Given the description of an element on the screen output the (x, y) to click on. 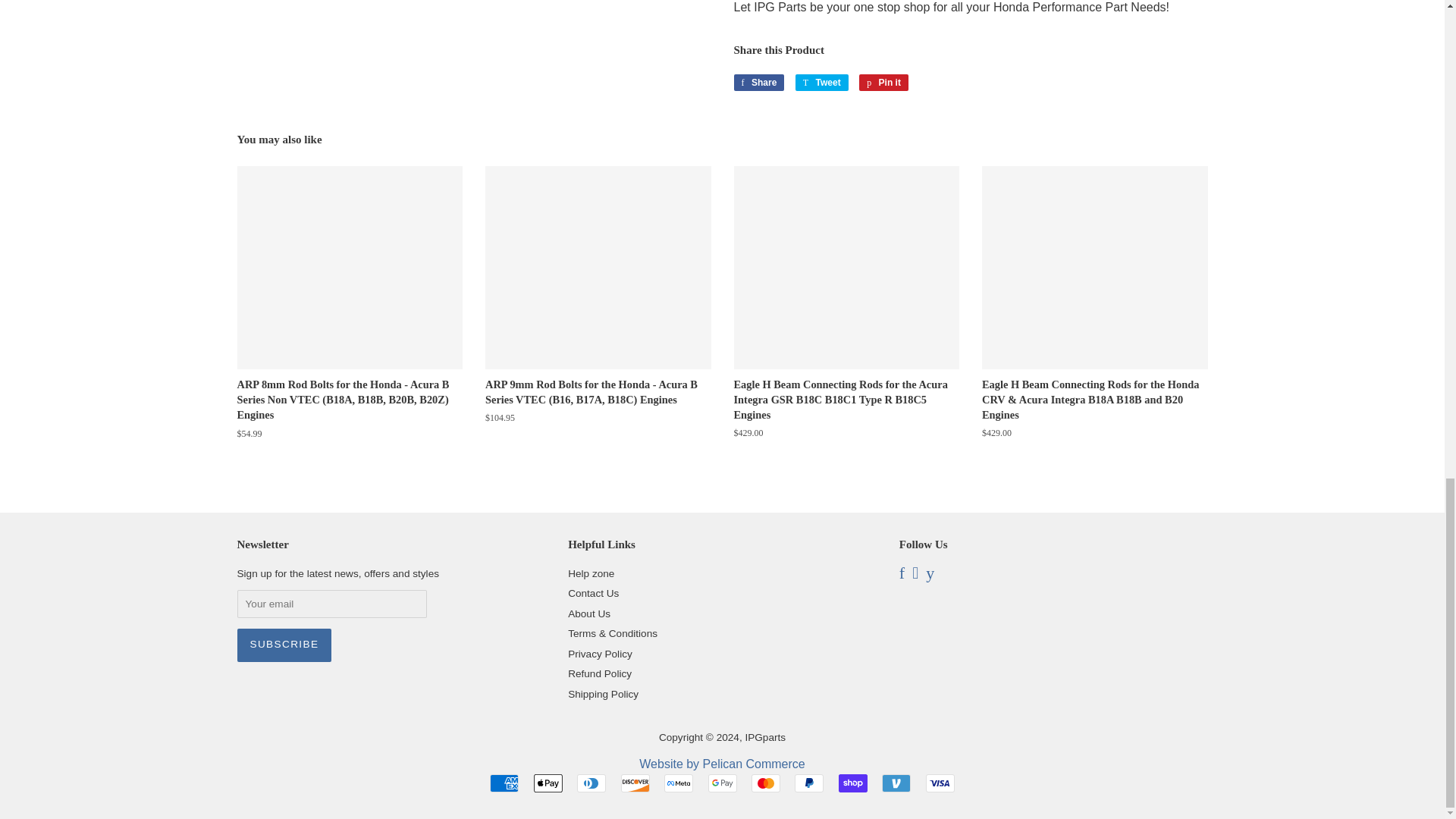
Mastercard (765, 782)
Subscribe (283, 644)
Visa (940, 782)
American Express (503, 782)
Diners Club (590, 782)
Discover (635, 782)
Apple Pay (548, 782)
PayPal (809, 782)
Venmo (896, 782)
Google Pay (721, 782)
